Given the description of an element on the screen output the (x, y) to click on. 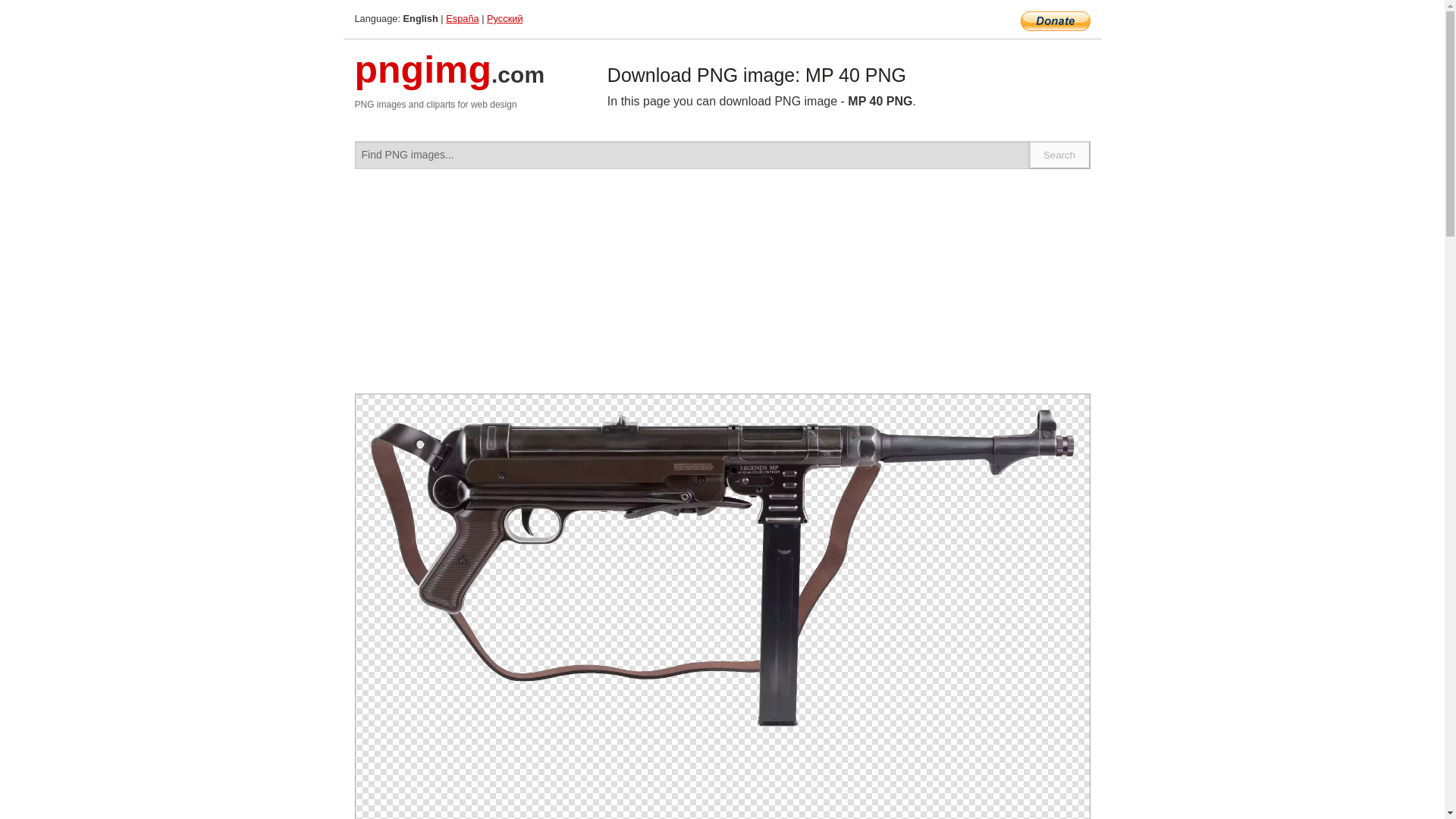
Search (1059, 154)
Search (1059, 154)
pngimg.com (449, 78)
